Given the description of an element on the screen output the (x, y) to click on. 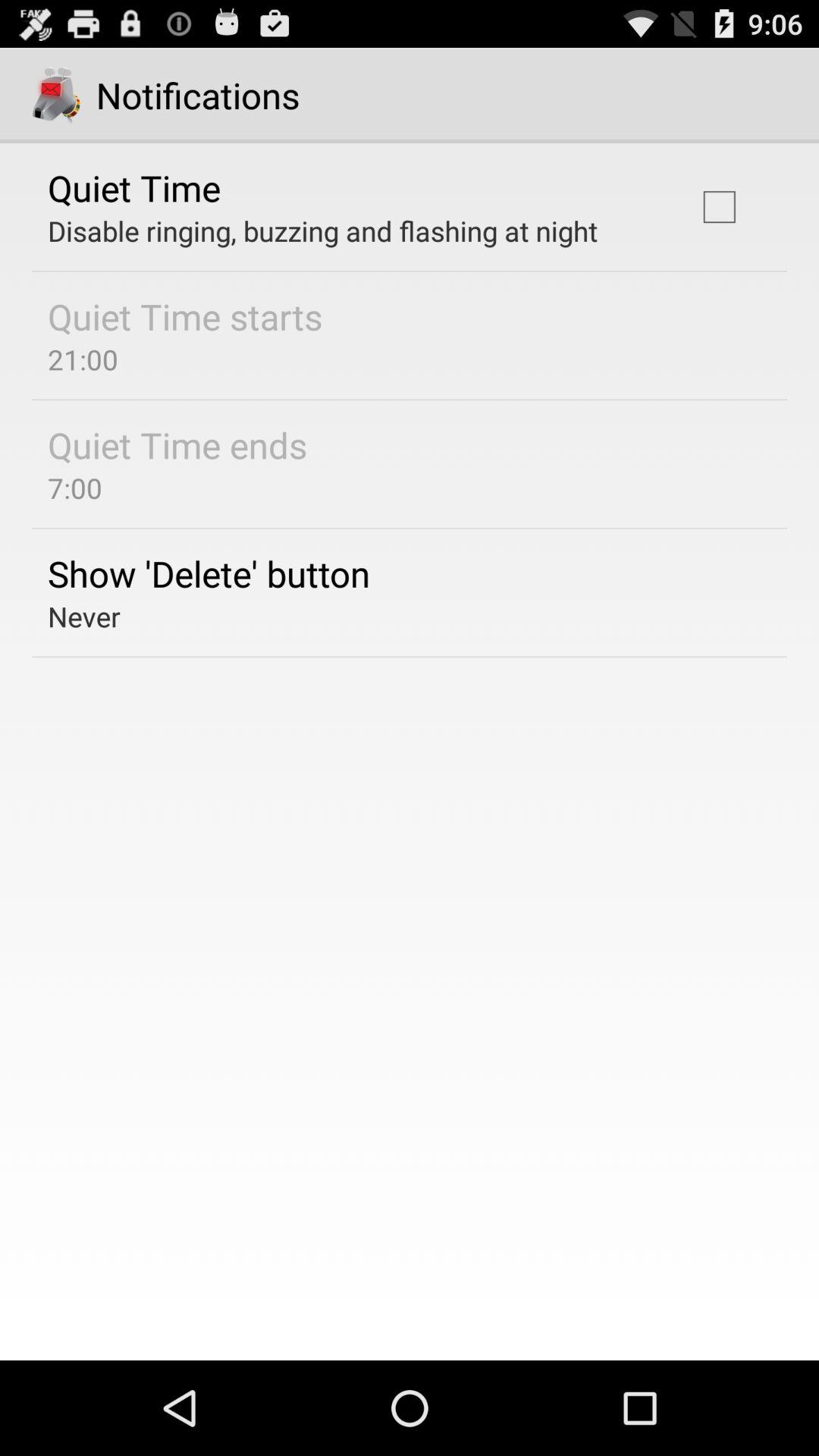
jump to never icon (83, 616)
